Given the description of an element on the screen output the (x, y) to click on. 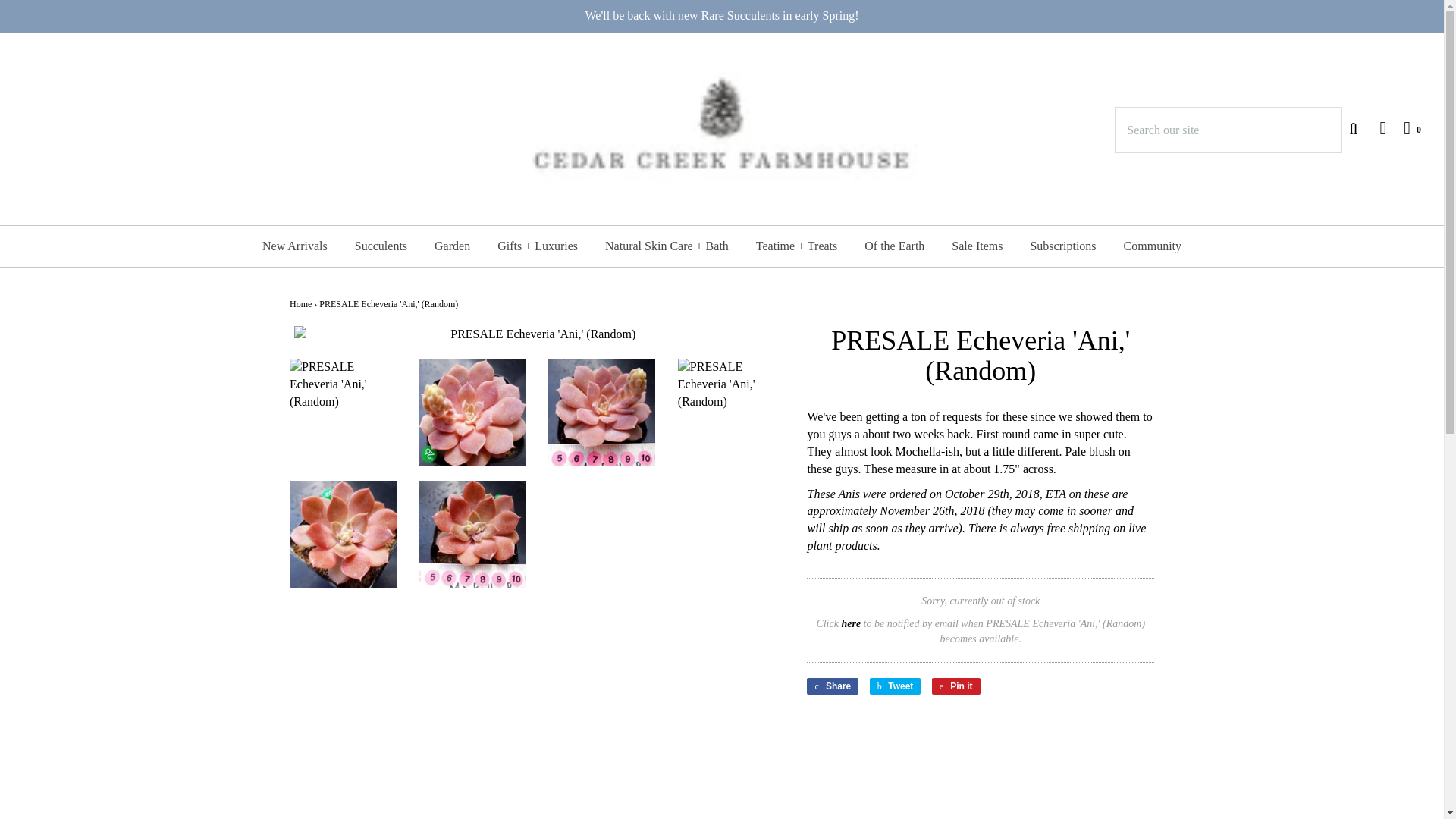
Search our site (1228, 130)
Succulents (381, 246)
Back to the frontpage (300, 303)
New Arrivals (294, 246)
0 (1405, 127)
Log in (1375, 127)
Your Cart (1405, 127)
We'll be back with new Rare Succulents in early Spring! (722, 16)
Garden (452, 246)
